Given the description of an element on the screen output the (x, y) to click on. 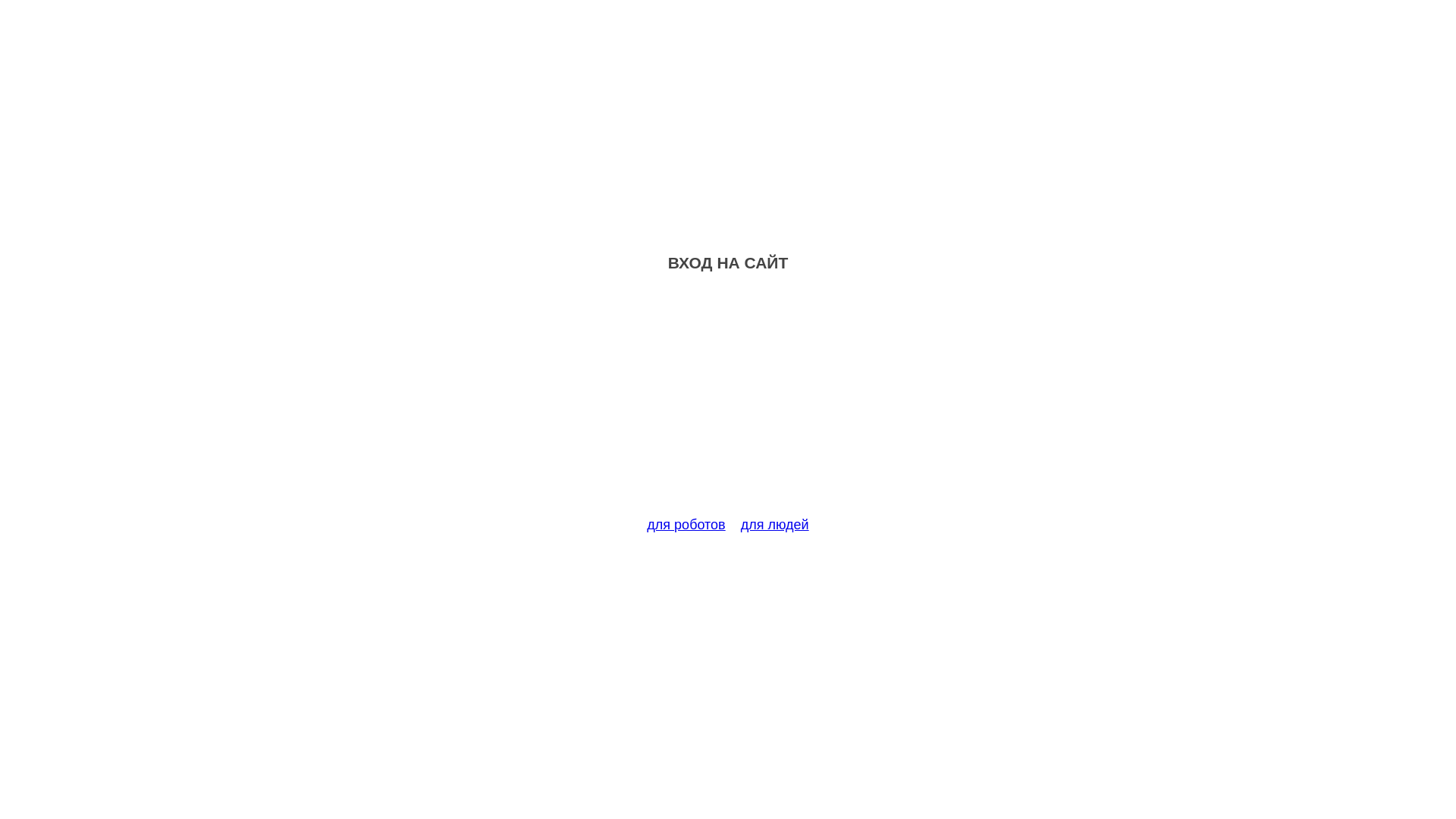
Advertisement Element type: hover (727, 403)
